Given the description of an element on the screen output the (x, y) to click on. 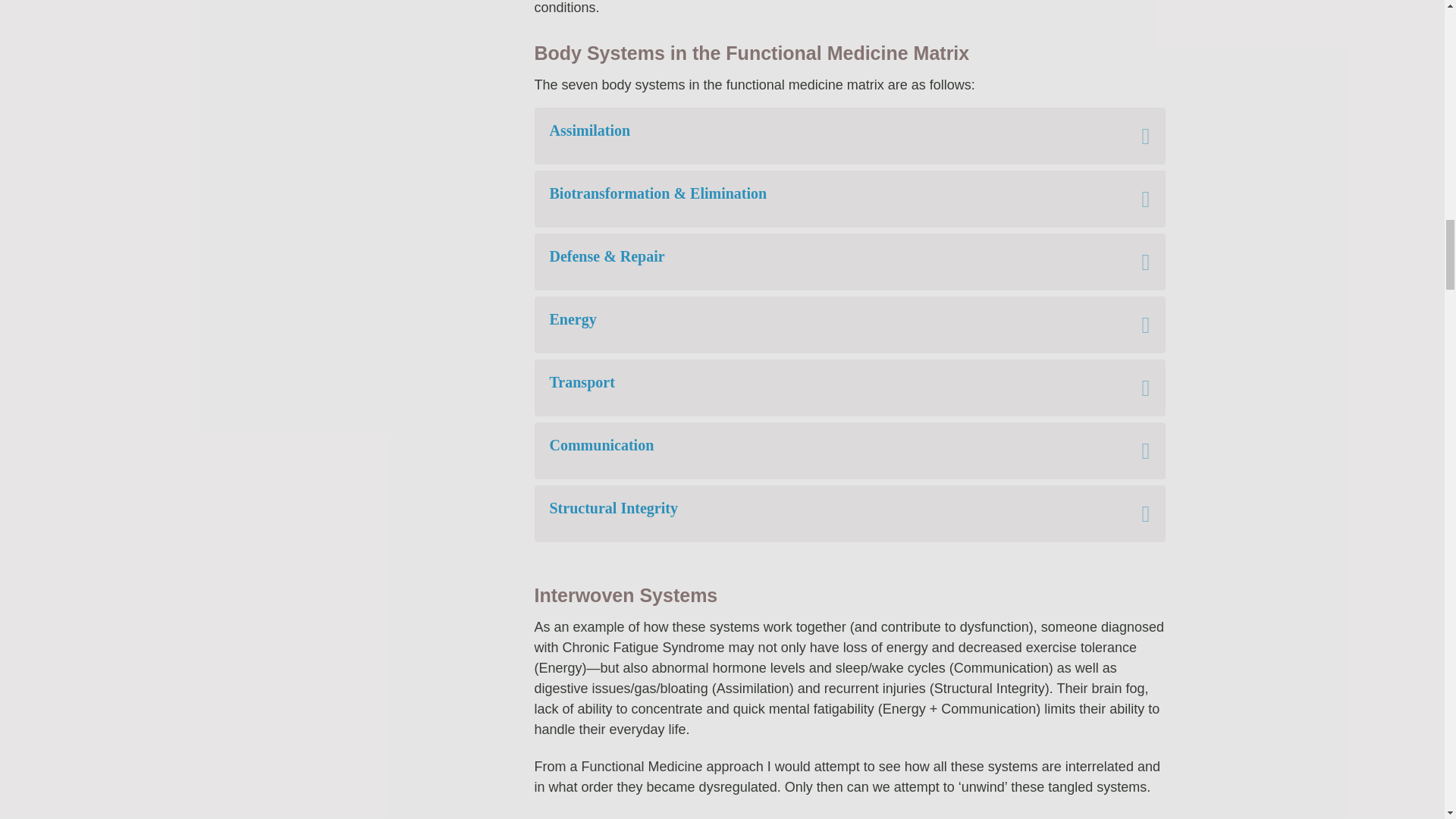
Expand (1134, 324)
Energy (833, 324)
Assimilation (833, 135)
Transport (833, 387)
RIFM-Medical-Models-FM-Matrix-NoBG (393, 145)
Expand (1134, 198)
Expand (1134, 135)
Expand (1134, 261)
